Given the description of an element on the screen output the (x, y) to click on. 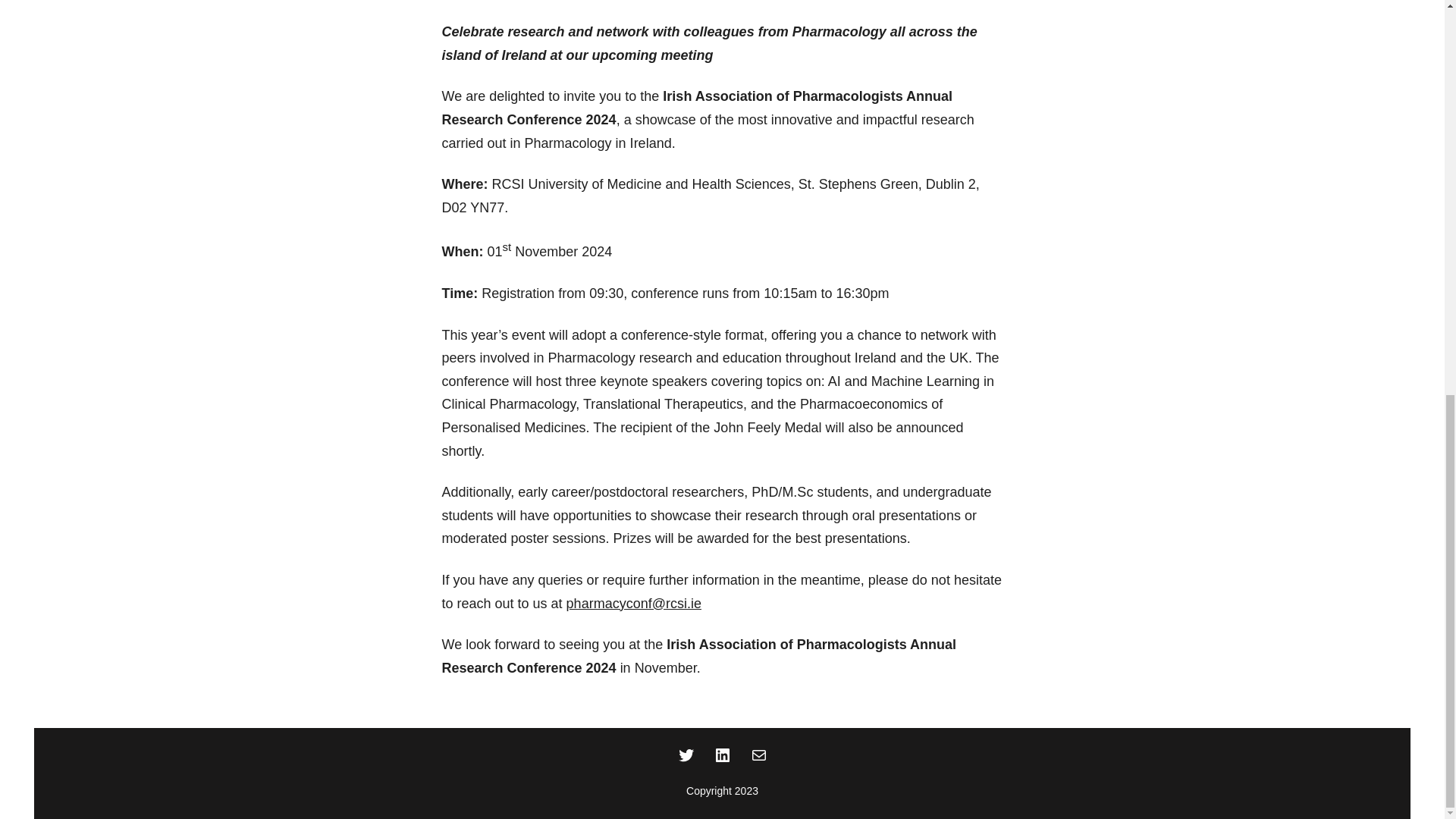
LinkedIn (721, 755)
Twitter (685, 755)
Mail (758, 755)
